Given the description of an element on the screen output the (x, y) to click on. 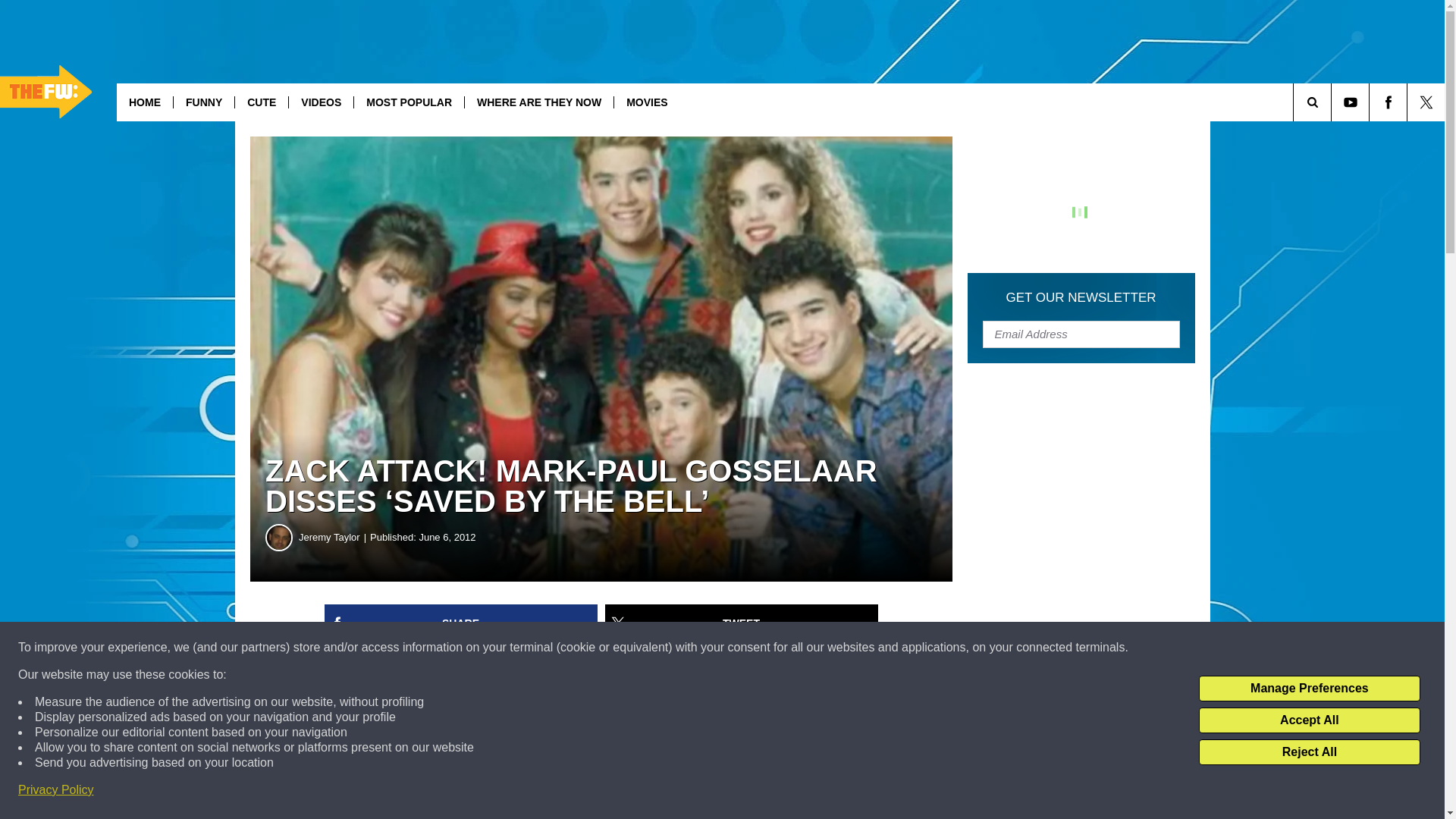
Visit us on Facebook (1388, 102)
TWEET (741, 623)
Saved by The Bell (784, 700)
WHERE ARE THEY NOW (538, 102)
SEARCH (1333, 102)
CUTE (261, 102)
Reject All (1309, 751)
FUNNY (203, 102)
SEARCH (1333, 102)
SEARCH (1333, 102)
